Given the description of an element on the screen output the (x, y) to click on. 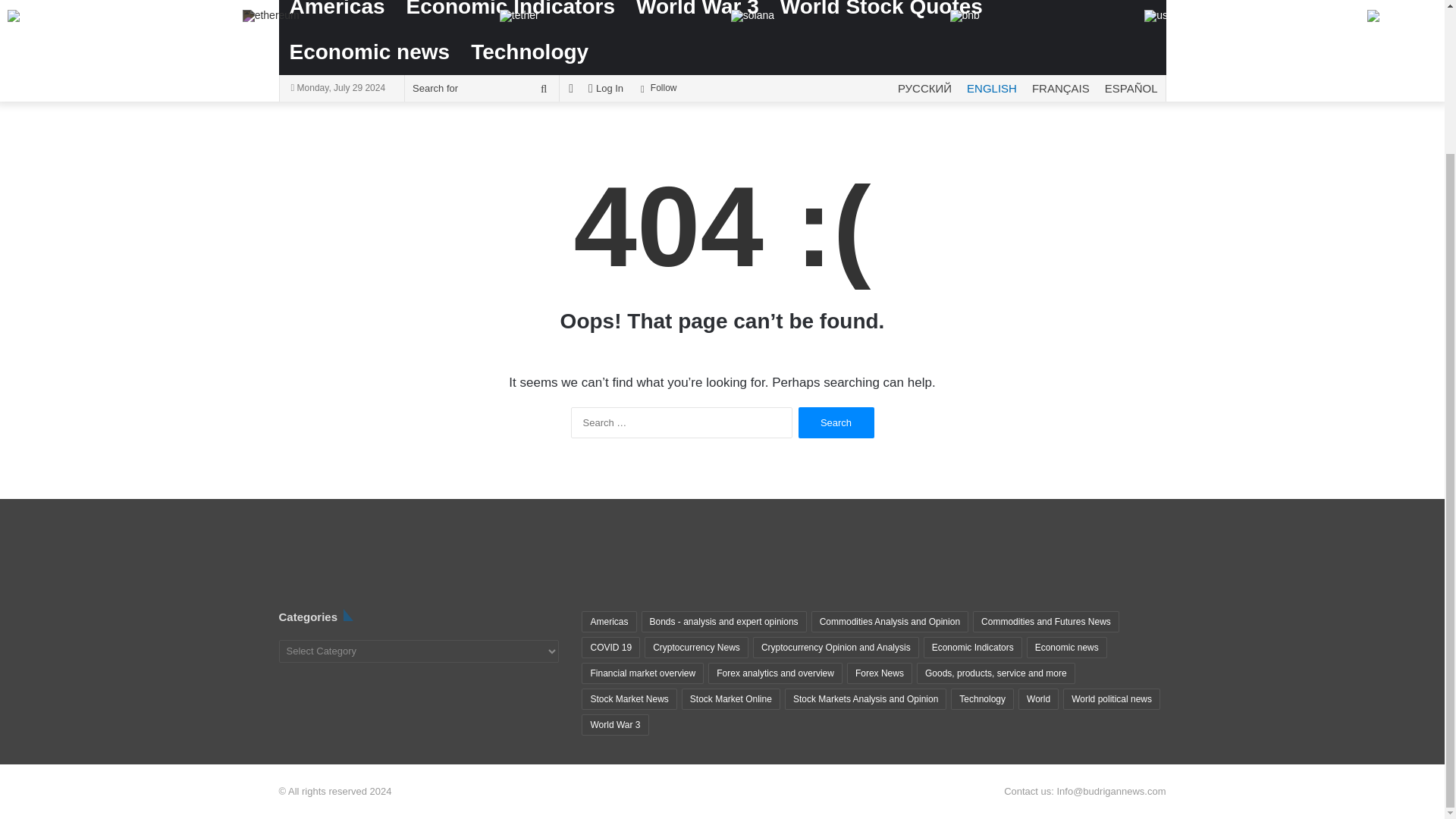
World War 3 (698, 14)
Commodities and Futures News (1045, 621)
Search (835, 422)
COVID 19 (610, 647)
Economic Indicators (511, 14)
Americas (337, 14)
Bonds - analysis and expert opinions (724, 621)
World Stock Quotes (881, 14)
Commodities Analysis and Opinion (889, 621)
Technology (529, 52)
Search (835, 422)
Americas (337, 14)
Search for (543, 88)
World War lll (698, 14)
Economic Indicators (511, 14)
